Given the description of an element on the screen output the (x, y) to click on. 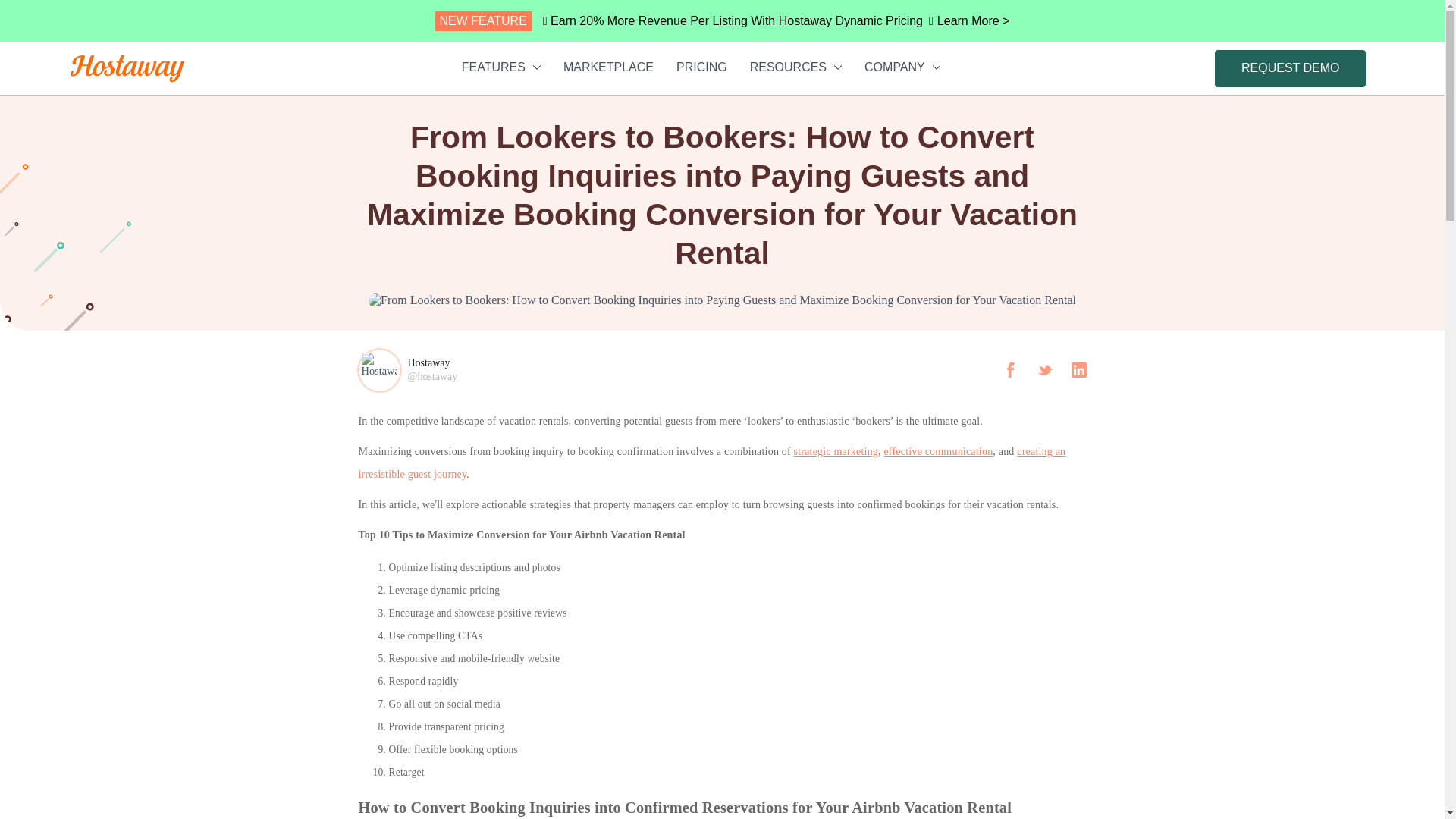
FEATURES (500, 66)
effective communication (937, 451)
PRICING (701, 66)
strategic marketing (835, 451)
creating an irresistible guest journey (711, 462)
MARKETPLACE (608, 66)
REQUEST DEMO (1290, 67)
